Given the description of an element on the screen output the (x, y) to click on. 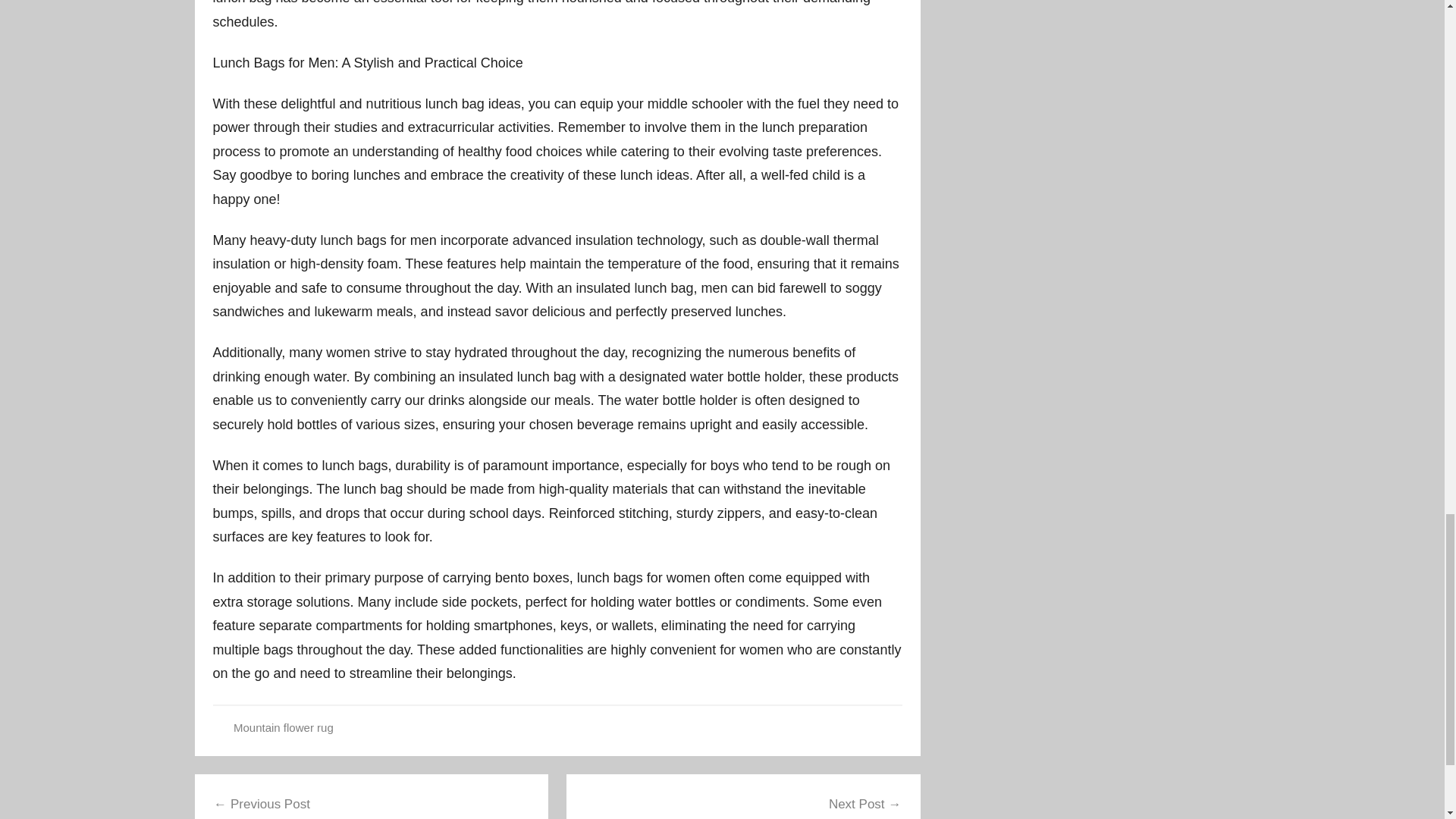
Mountain flower rug (282, 727)
